Given the description of an element on the screen output the (x, y) to click on. 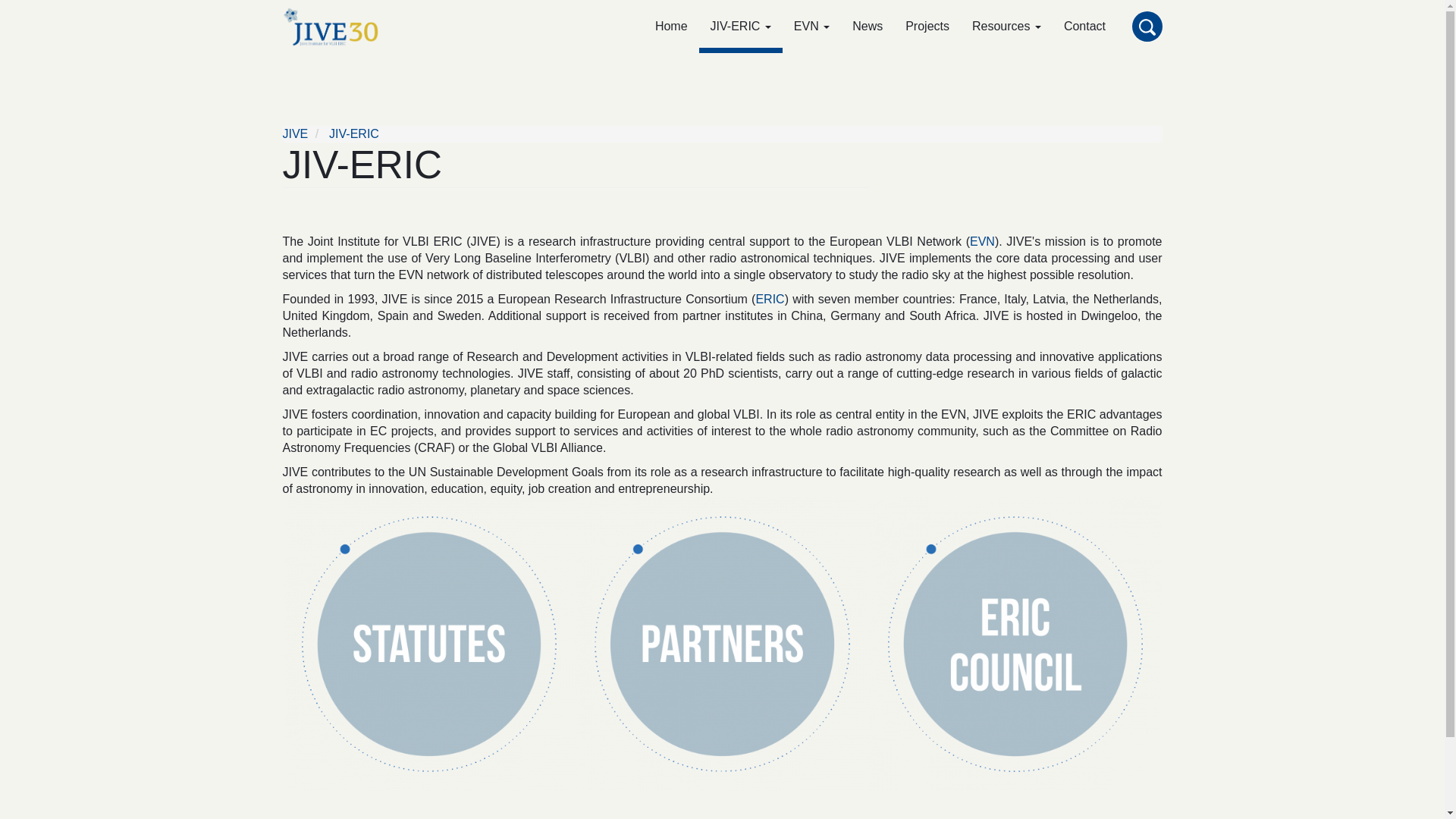
Home (336, 26)
JIV-ERIC (740, 26)
ERIC (769, 298)
EVN (812, 26)
JIV-ERIC (353, 133)
Contact (1084, 26)
Resources (1006, 26)
The organisation of JIVE (740, 26)
Projects (926, 26)
